Given the description of an element on the screen output the (x, y) to click on. 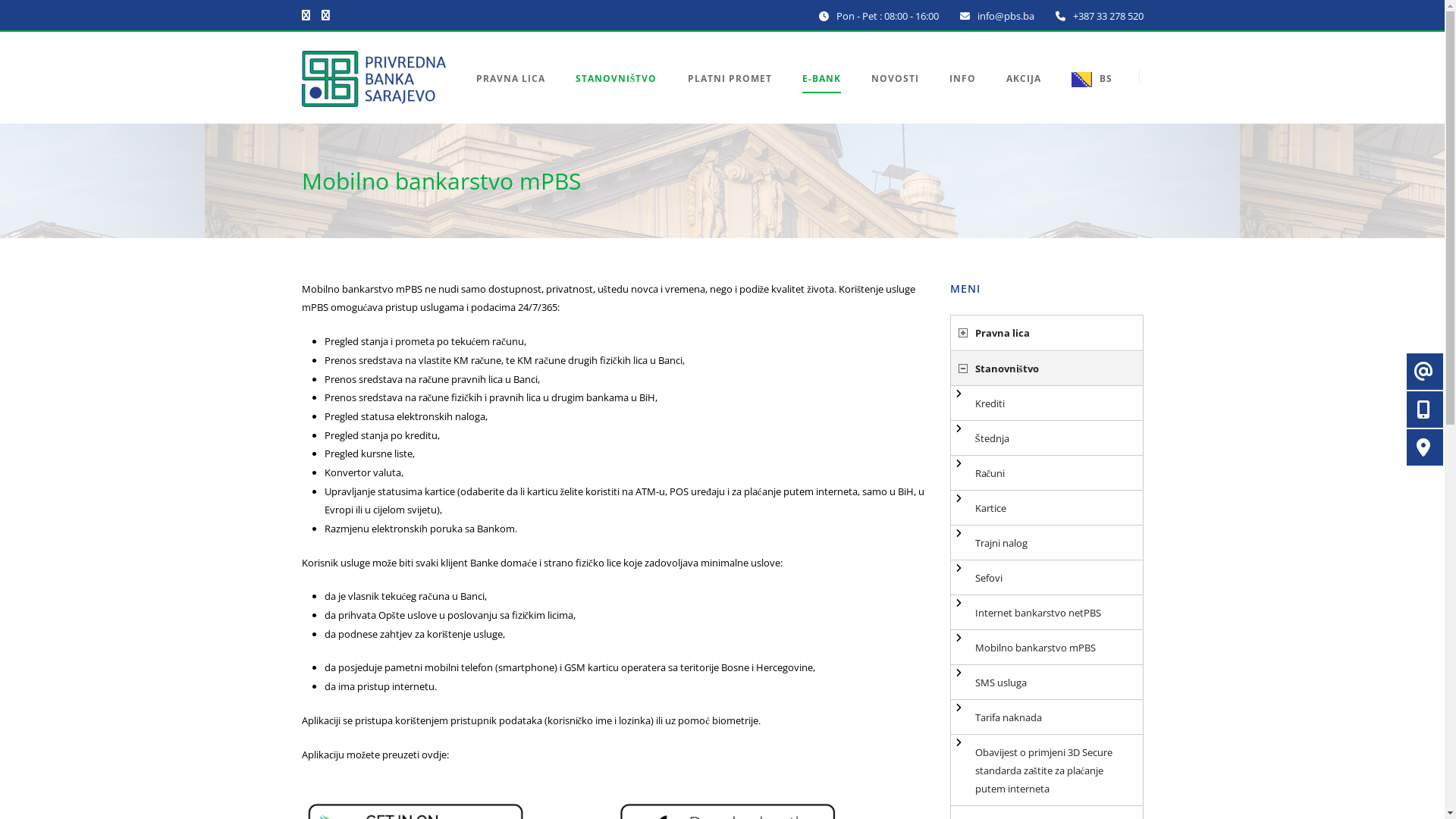
Kartice Element type: text (1046, 507)
AKCIJA Element type: text (1022, 96)
Krediti Element type: text (1046, 402)
Mobilno bankarstvo mPBS Element type: text (1046, 647)
PLATNI PROMET Element type: text (728, 96)
Tarifa naknada Element type: text (1046, 716)
SMS usluga Element type: text (1046, 682)
E-BANK Element type: text (821, 96)
Sefovi Element type: text (1046, 577)
NOVOSTI Element type: text (894, 96)
BS Element type: text (1083, 96)
PRAVNA LICA Element type: text (518, 96)
Pravna lica Element type: text (1046, 333)
Trajni nalog Element type: text (1046, 542)
Internet bankarstvo netPBS Element type: text (1046, 612)
INFO Element type: text (962, 96)
